Given the description of an element on the screen output the (x, y) to click on. 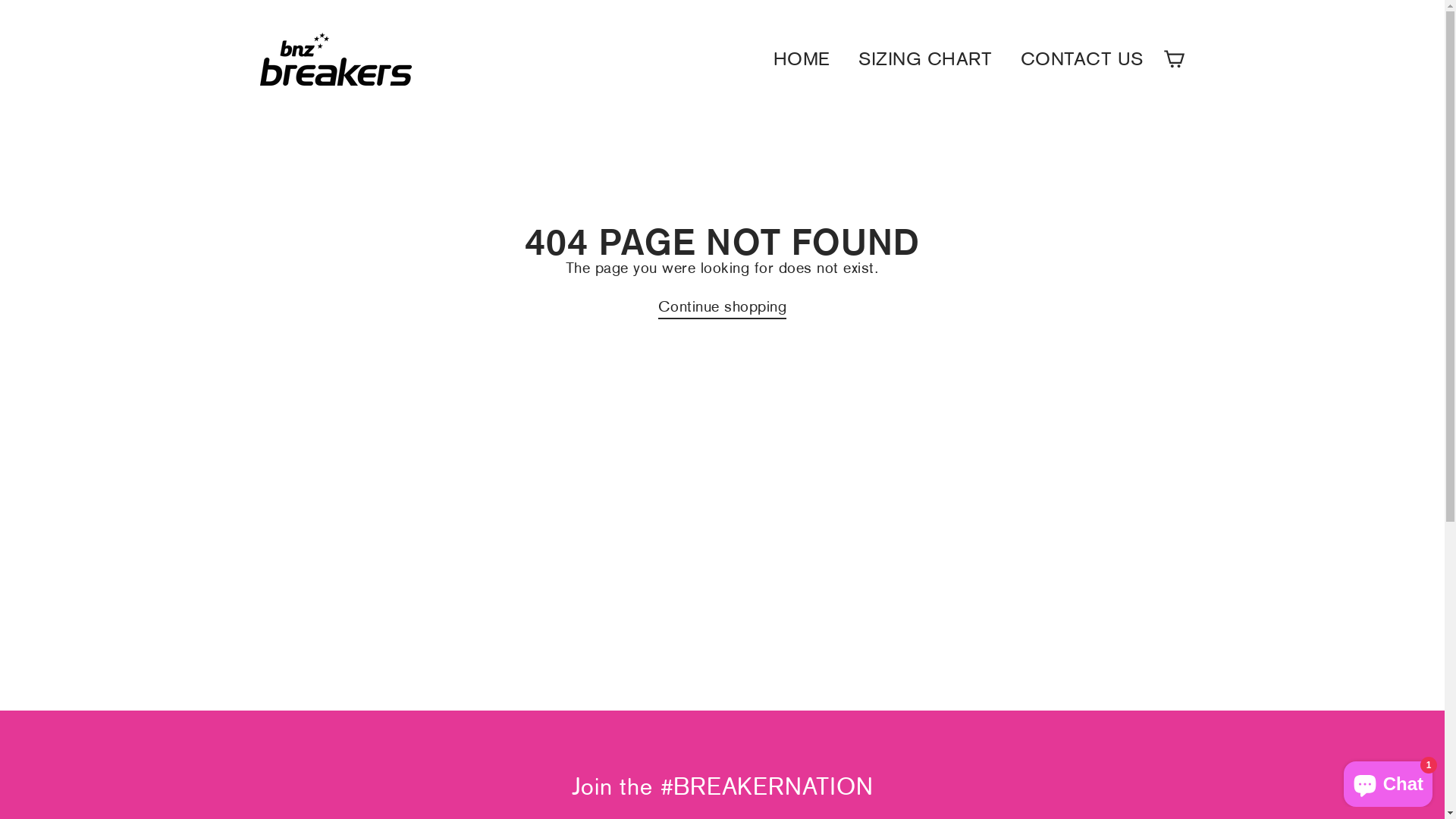
SIZING CHART Element type: text (925, 59)
Skip to content Element type: text (0, 0)
HOME Element type: text (800, 59)
Shopify online store chat Element type: hover (1388, 780)
CONTACT US Element type: text (1081, 59)
Cart Element type: text (1173, 59)
Continue shopping Element type: text (722, 307)
